Given the description of an element on the screen output the (x, y) to click on. 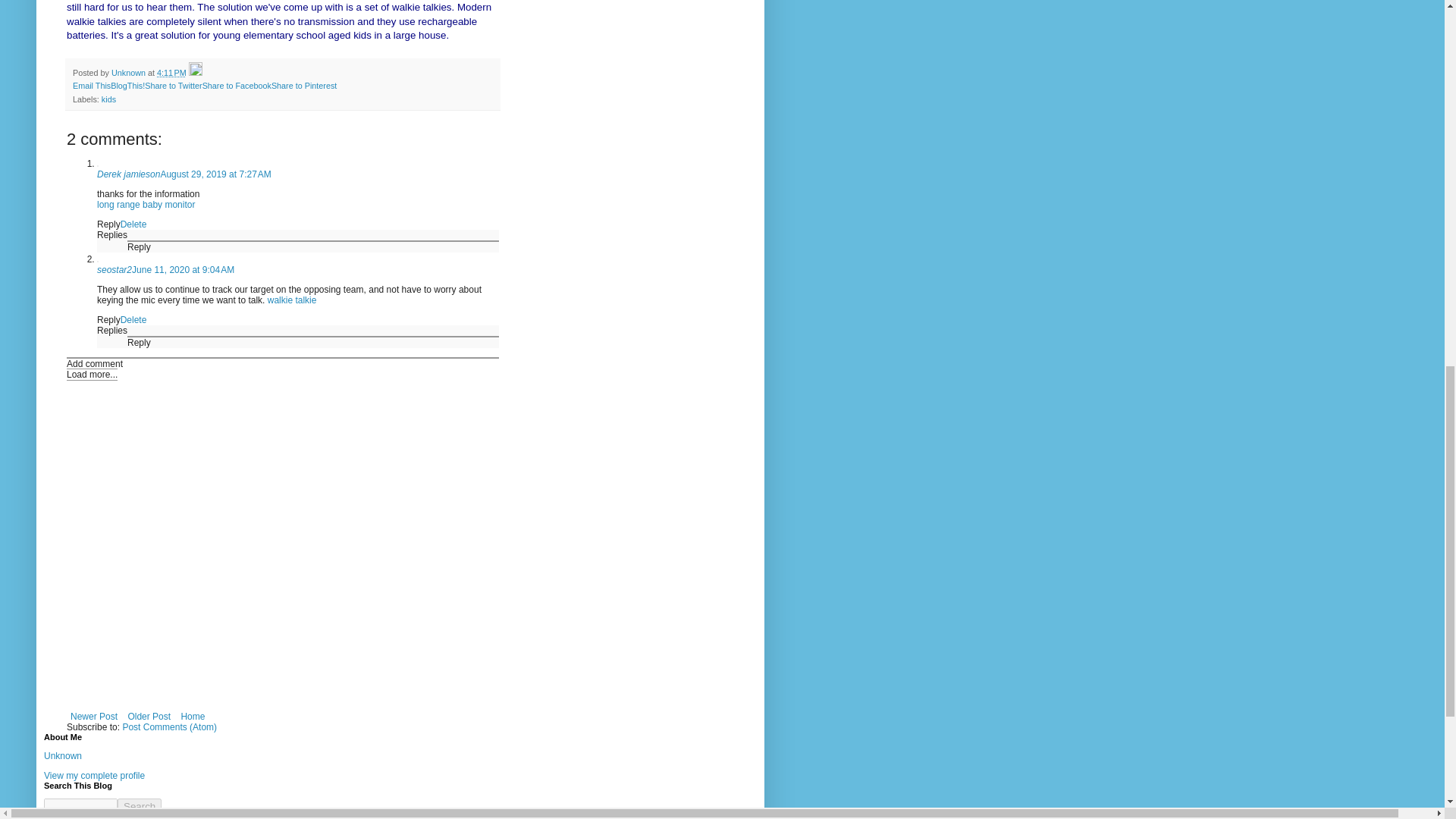
BlogThis! (127, 85)
Delete (133, 319)
search (139, 806)
Search (139, 806)
Unknown (130, 71)
Older Post (148, 716)
Reply (108, 224)
Reply (108, 319)
Load more... (91, 374)
Older Post (148, 716)
Newer Post (93, 716)
Replies (112, 235)
Reply (139, 246)
